Given the description of an element on the screen output the (x, y) to click on. 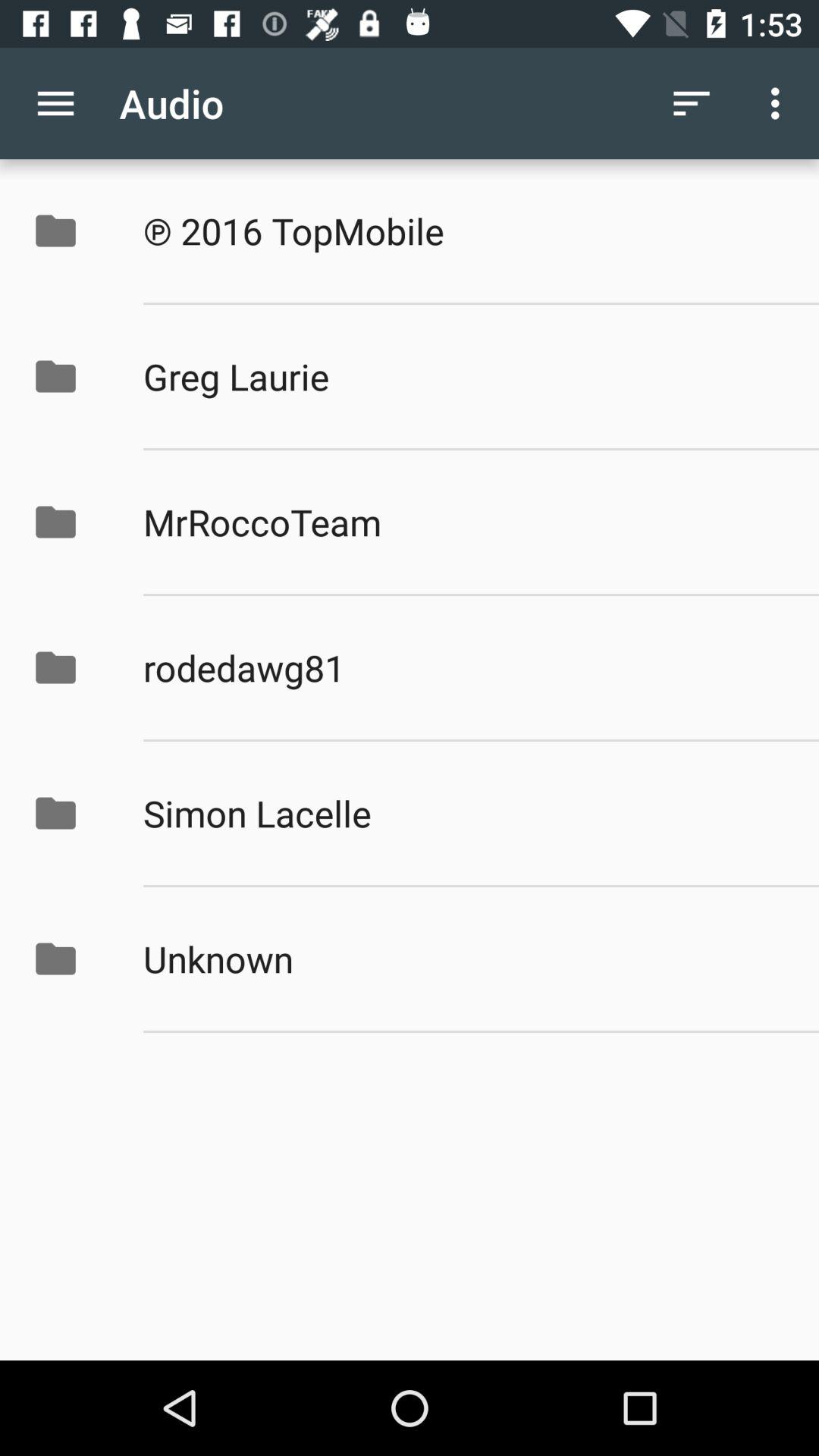
tap the icon above simon lacelle icon (465, 667)
